Given the description of an element on the screen output the (x, y) to click on. 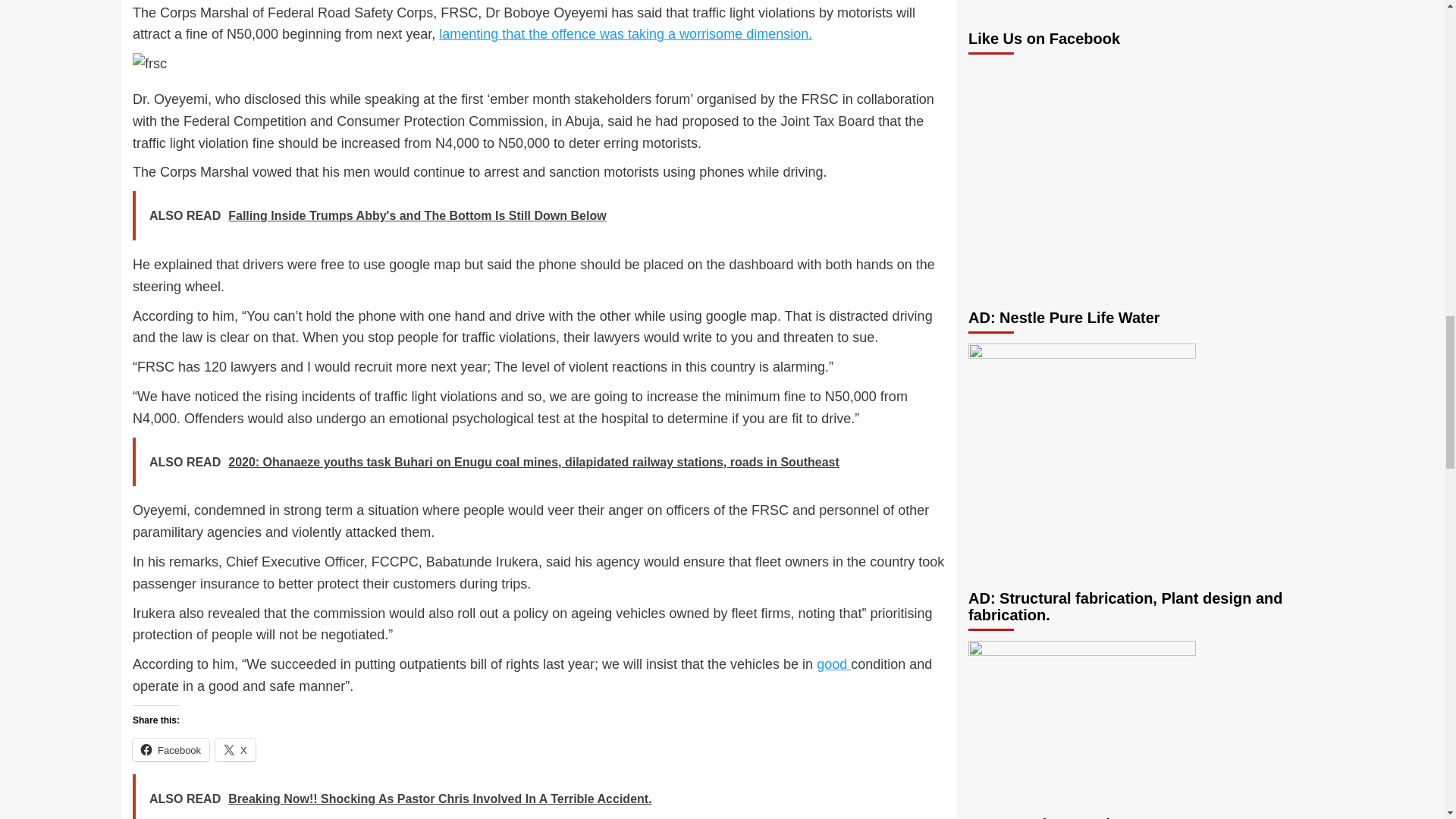
Click to share on Facebook (170, 749)
Innoson Kiara Academy (1038, 175)
Click to share on X (235, 749)
lamenting that the offence was taking a worrisome dimension. (625, 33)
Facebook (170, 749)
good (833, 663)
